Given the description of an element on the screen output the (x, y) to click on. 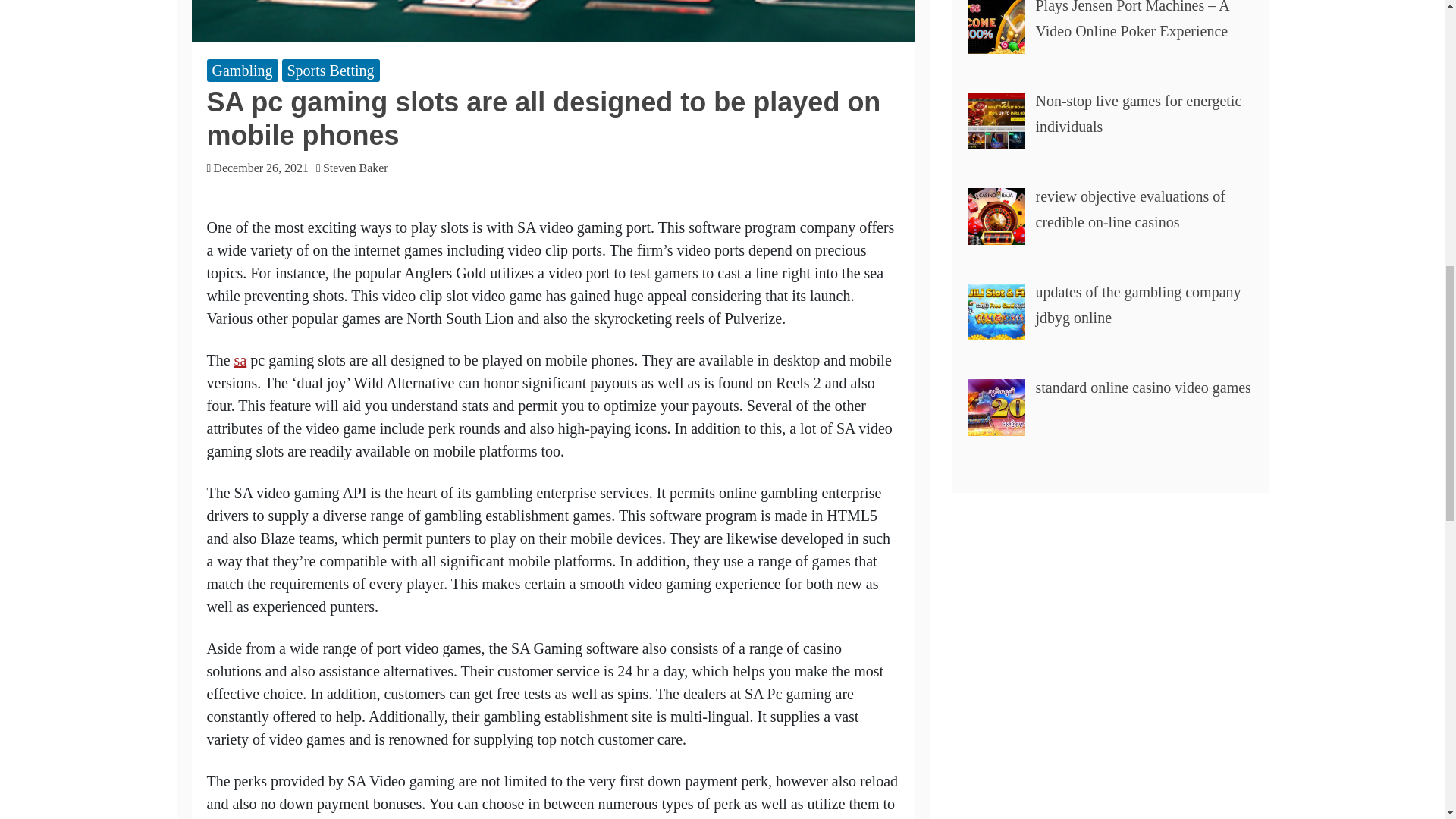
Gambling (242, 69)
December 26, 2021 (260, 167)
Steven Baker (359, 167)
Sports Betting (331, 69)
